Given the description of an element on the screen output the (x, y) to click on. 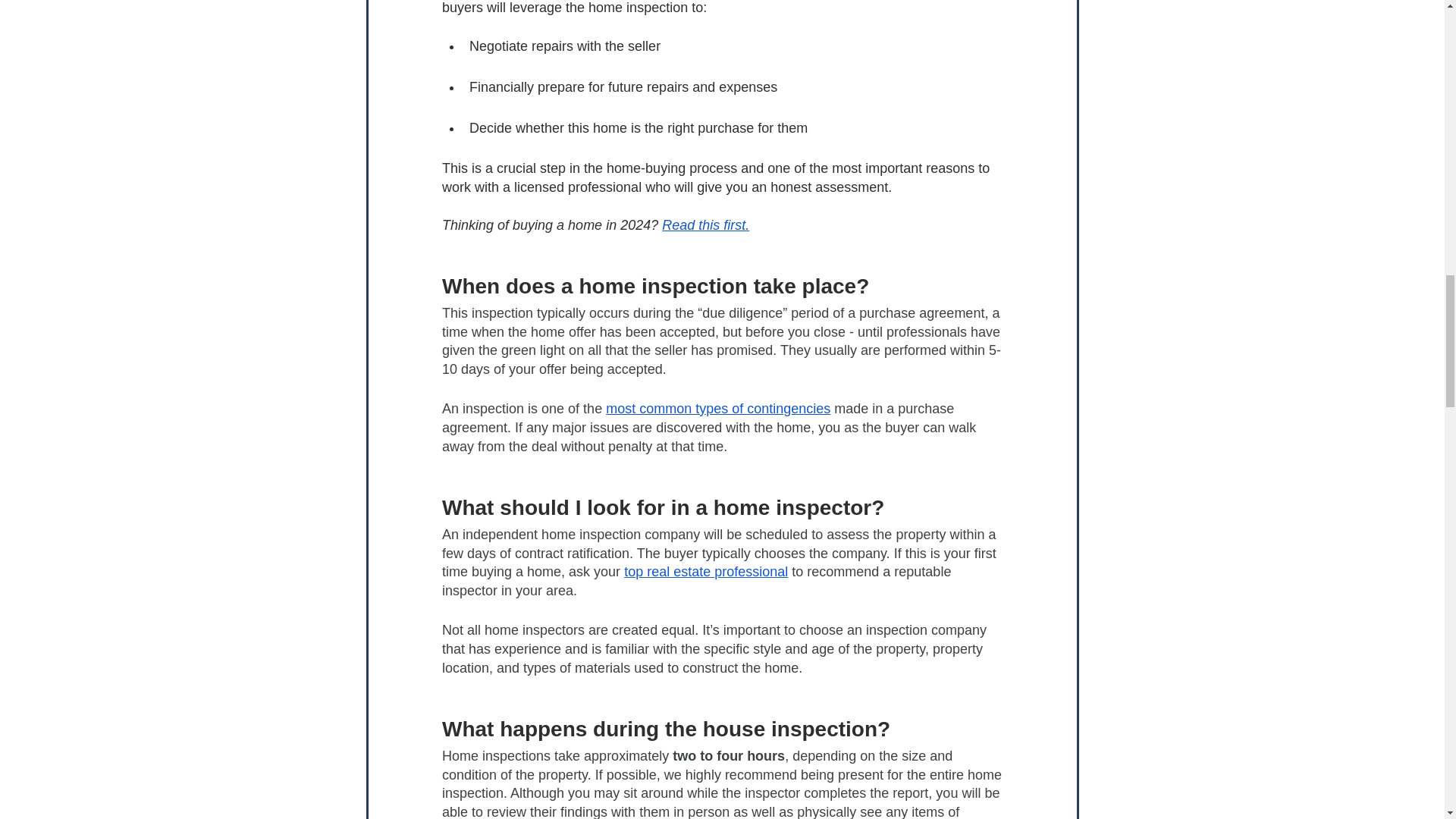
most common types of contingencies (717, 408)
Read this first. (705, 224)
top real estate professional (705, 571)
